Given the description of an element on the screen output the (x, y) to click on. 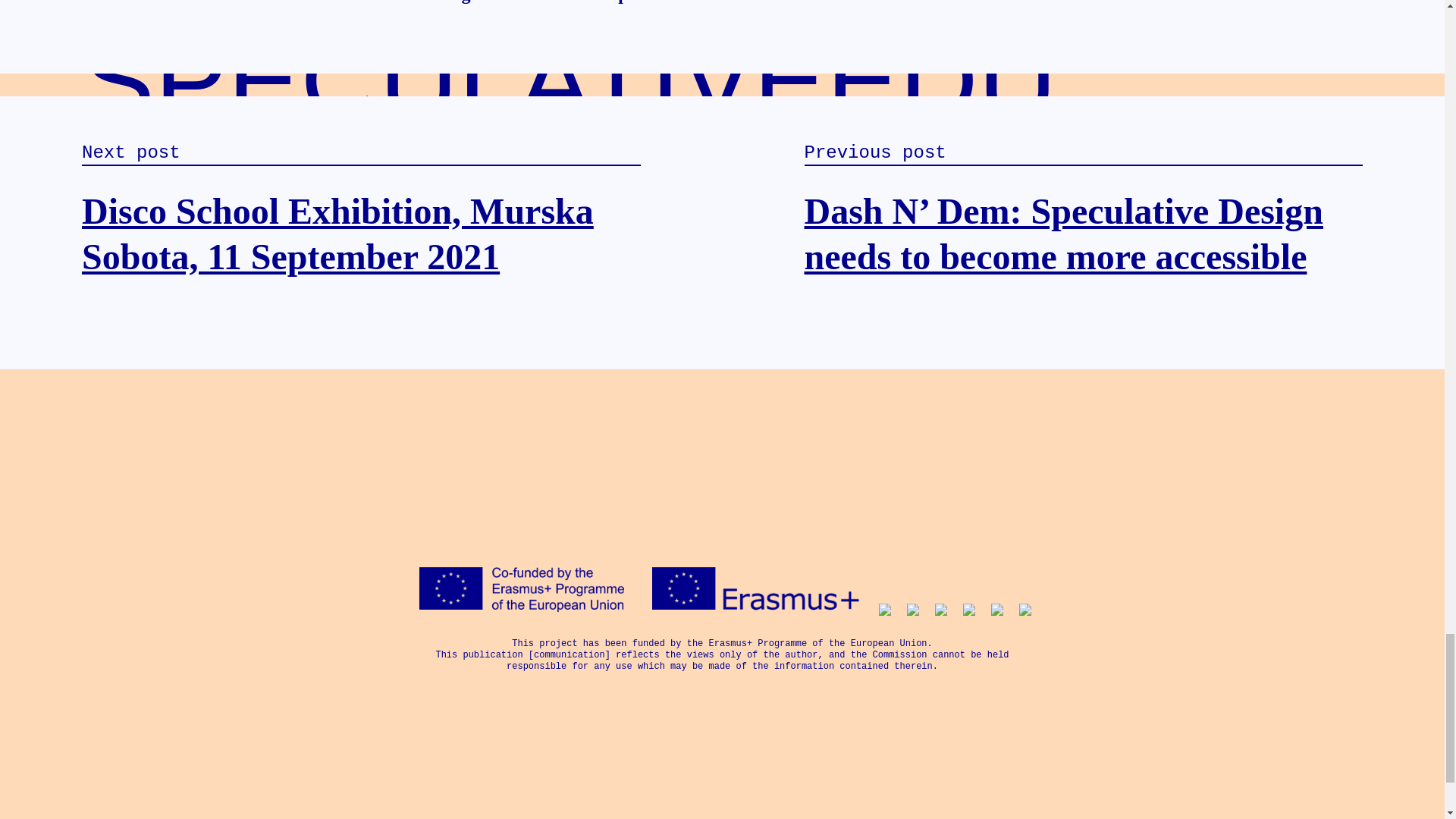
Facebook (674, 800)
Twitter (706, 800)
LinkedIn (770, 800)
Disco School Exhibition, Murska Sobota, 11 September 2021 (337, 233)
Instagram (738, 800)
